Given the description of an element on the screen output the (x, y) to click on. 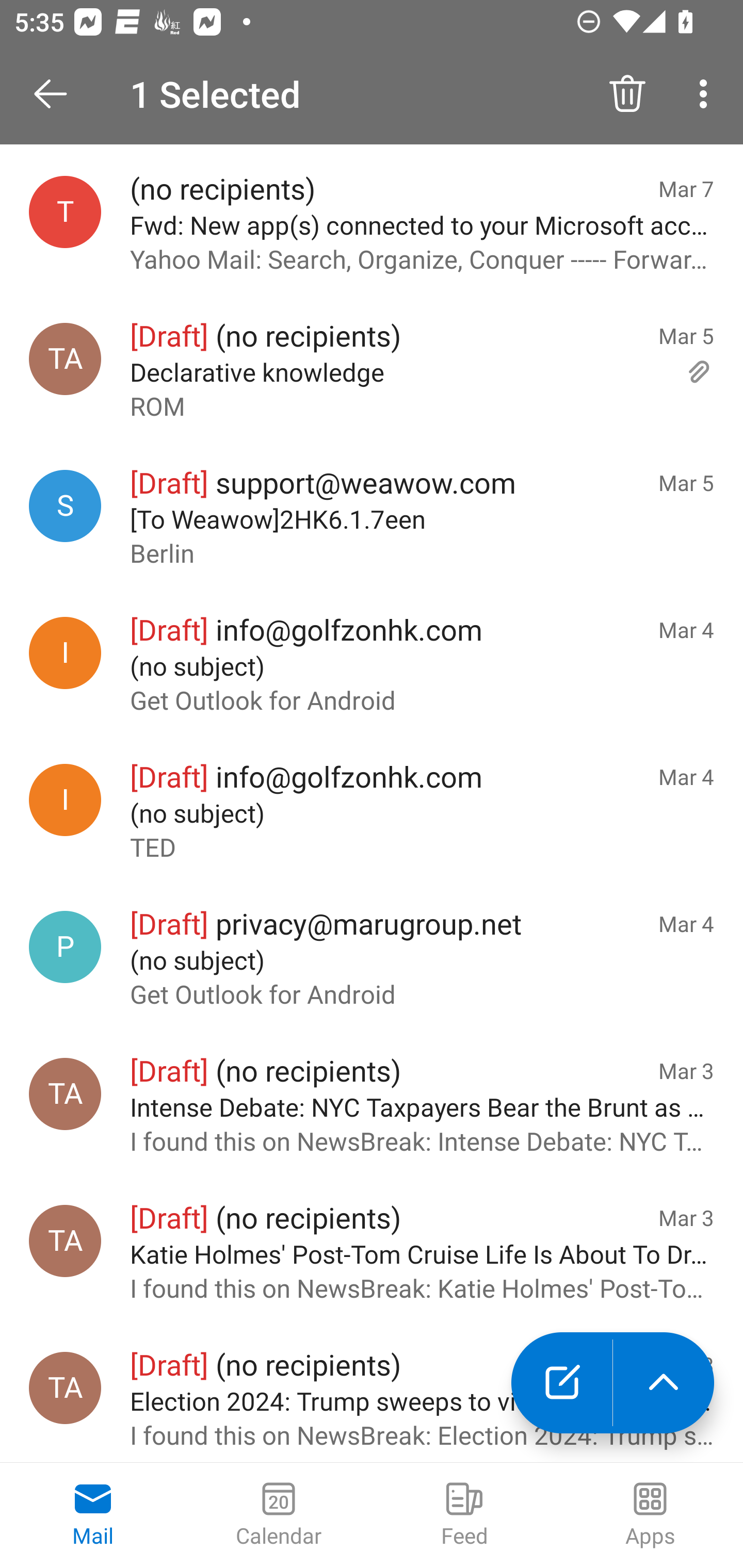
Delete (626, 93)
More options (706, 93)
Open Navigation Drawer (57, 94)
testappium002@outlook.com (64, 211)
Test Appium, testappium002@outlook.com (64, 359)
support@weawow.com (64, 506)
info@golfzonhk.com (64, 652)
info@golfzonhk.com (64, 799)
privacy@marugroup.net (64, 947)
Test Appium, testappium002@outlook.com (64, 1094)
Test Appium, testappium002@outlook.com (64, 1240)
New mail (561, 1382)
launch the extended action menu (663, 1382)
Test Appium, testappium002@outlook.com (64, 1387)
Calendar (278, 1515)
Feed (464, 1515)
Apps (650, 1515)
